Given the description of an element on the screen output the (x, y) to click on. 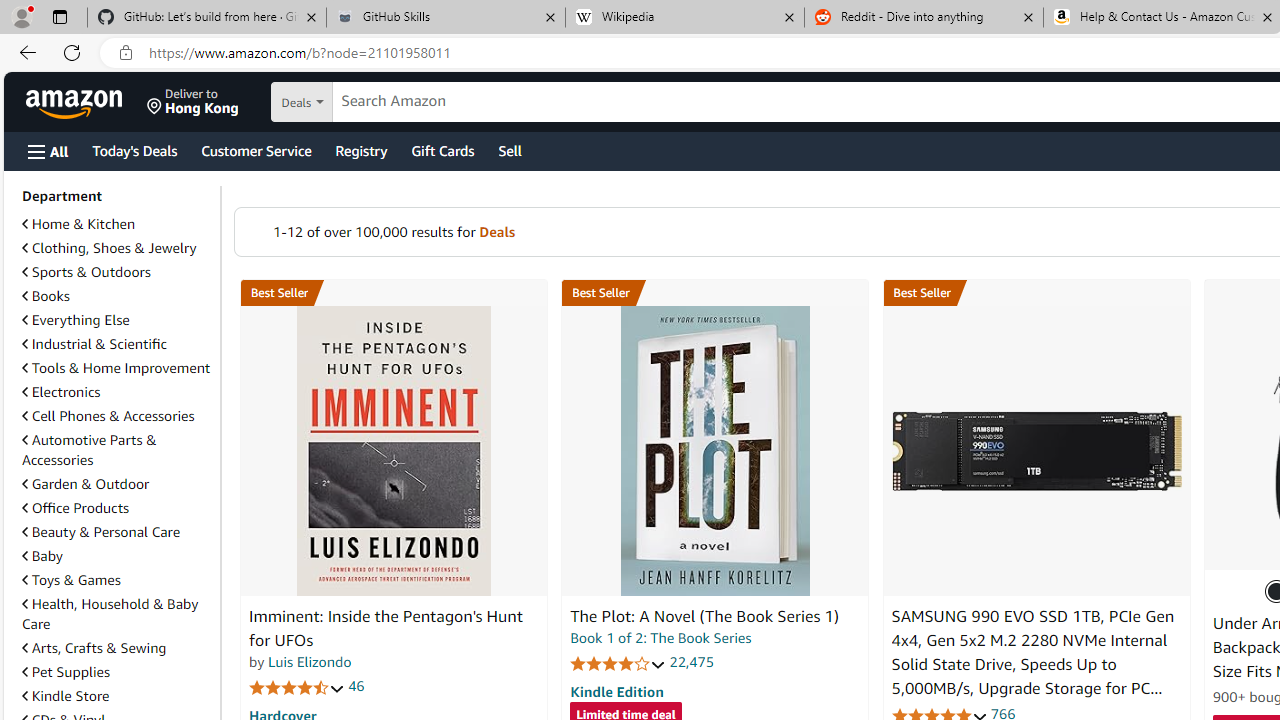
Best Seller in Unexplained Mysteries (393, 293)
Books (45, 296)
Imminent: Inside the Pentagon's Hunt for UFOs (386, 628)
22,475 (691, 662)
Reddit - Dive into anything (924, 17)
Toys & Games (71, 579)
Amazon (76, 101)
Clothing, Shoes & Jewelry (117, 247)
Tools & Home Improvement (117, 367)
Gift Cards (442, 150)
Imminent: Inside the Pentagon's Hunt for UFOs (393, 451)
Office Products (117, 507)
Kindle Store (117, 696)
Baby (41, 556)
